Given the description of an element on the screen output the (x, y) to click on. 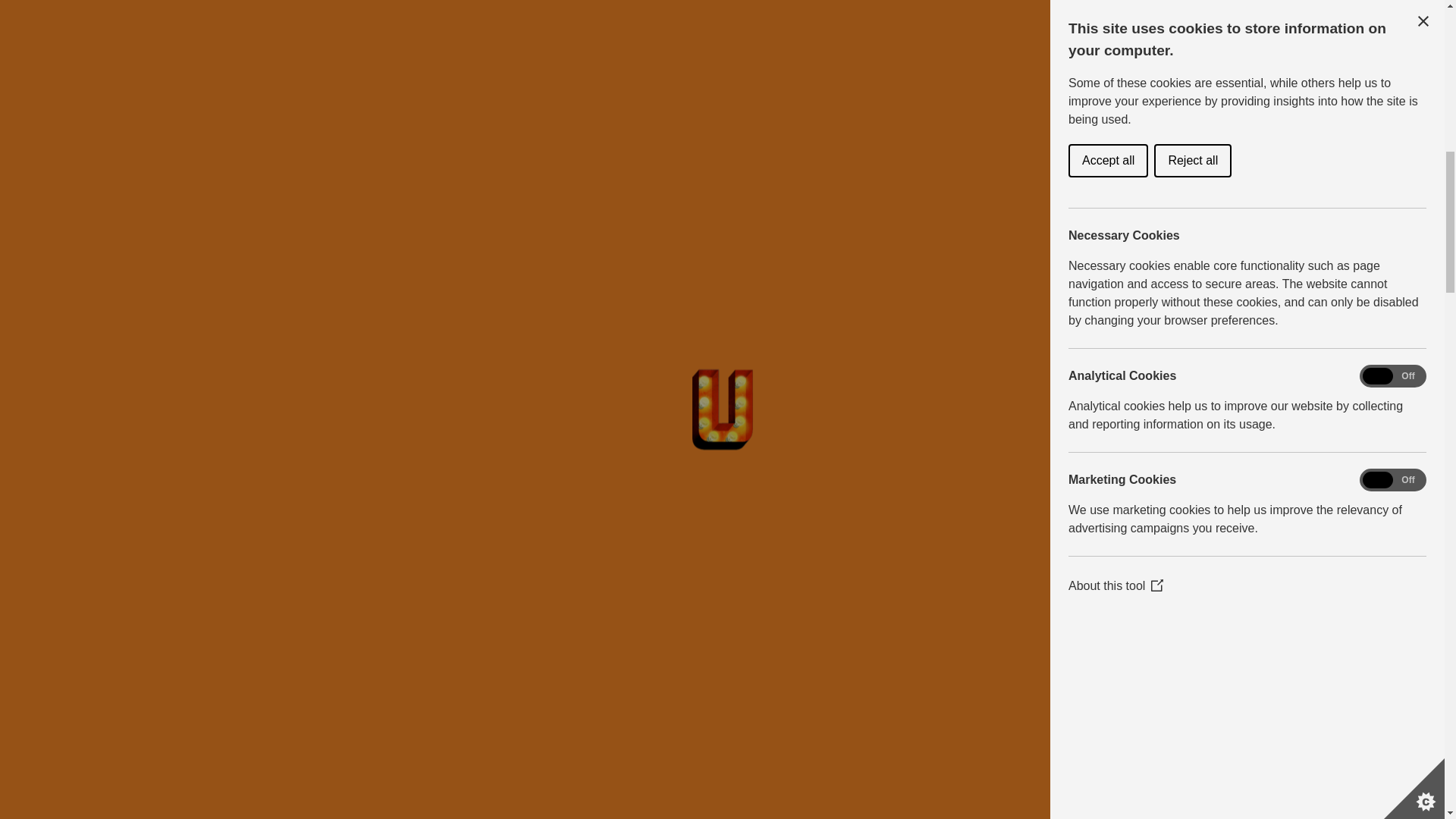
August 5, 2018 (740, 72)
August 5, 2018 (749, 534)
August 3, 2018 (702, 226)
August 5, 2018 (751, 380)
